Given the description of an element on the screen output the (x, y) to click on. 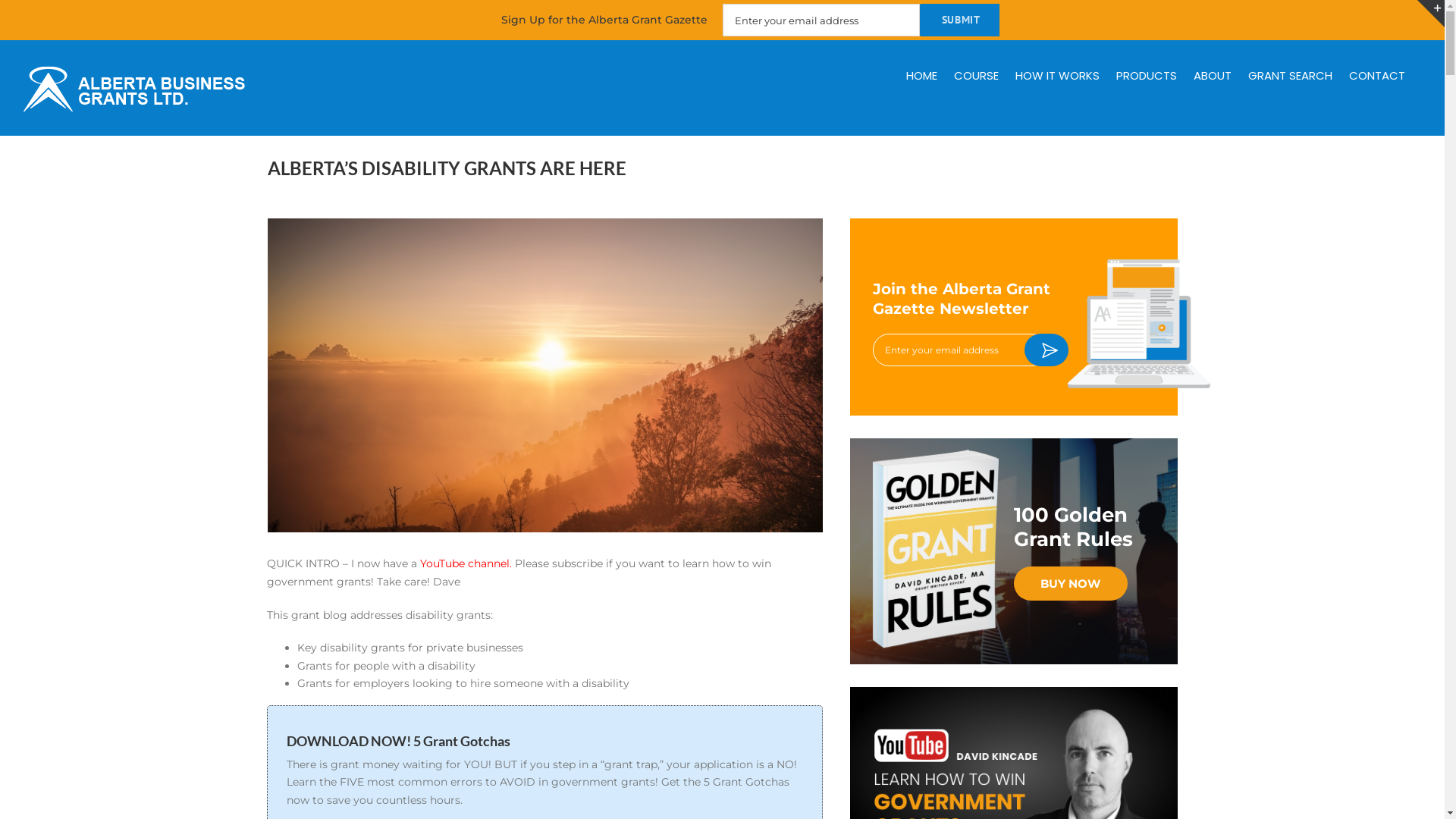
PRODUCTS Element type: text (1146, 74)
Submit Element type: text (960, 19)
HOW IT WORKS Element type: text (1057, 74)
BUY NOW Element type: text (1069, 583)
HOME Element type: text (921, 74)
Toggle Sliding Bar Area Element type: text (1430, 13)
ABOUT Element type: text (1212, 74)
channel Element type: text (488, 563)
CONTACT Element type: text (1377, 74)
GRANT SEARCH Element type: text (1290, 74)
View Larger Image Element type: text (544, 375)
YouTube Element type: text (442, 563)
COURSE Element type: text (975, 74)
